Given the description of an element on the screen output the (x, y) to click on. 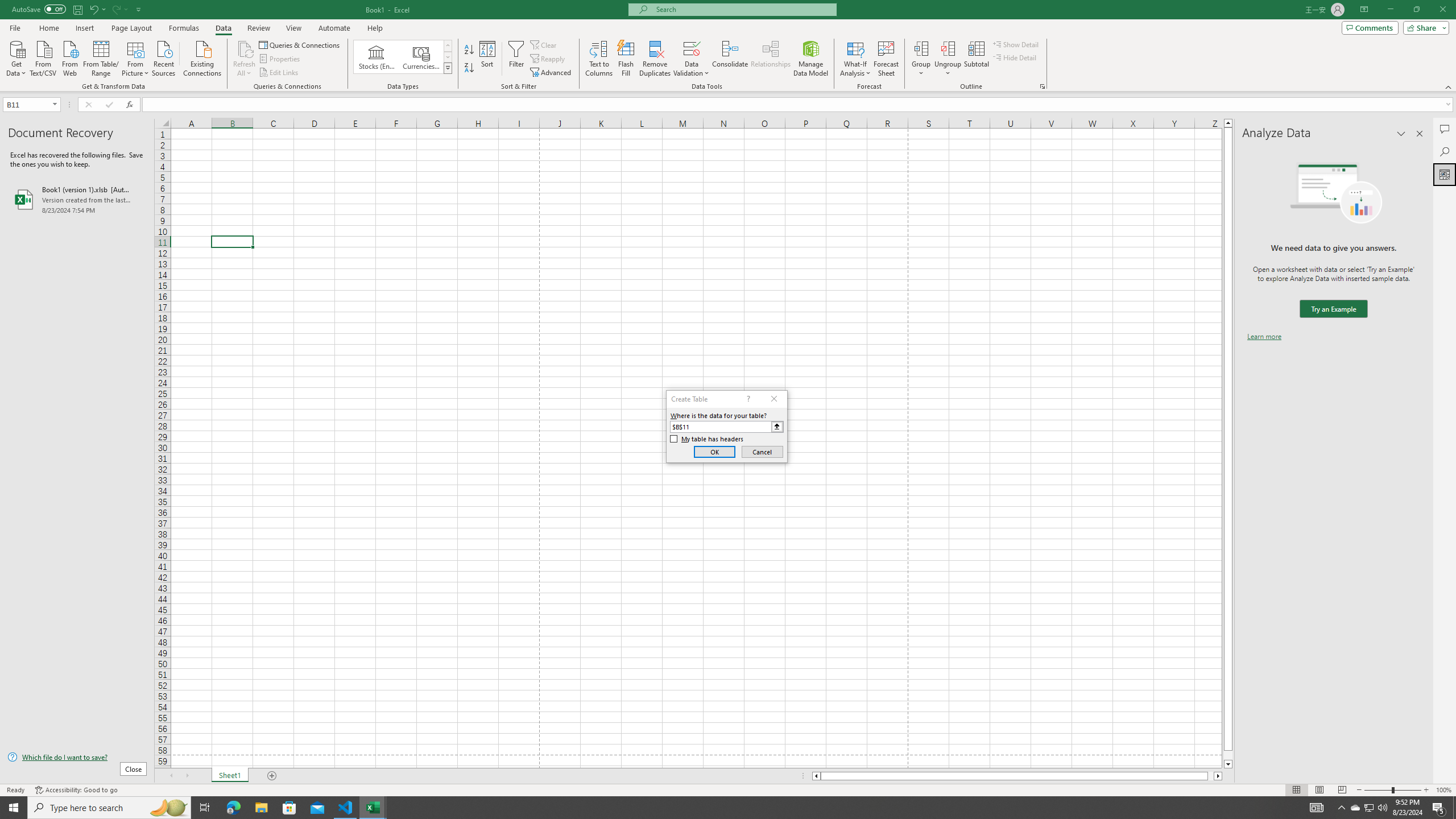
Consolidate... (729, 58)
